Given the description of an element on the screen output the (x, y) to click on. 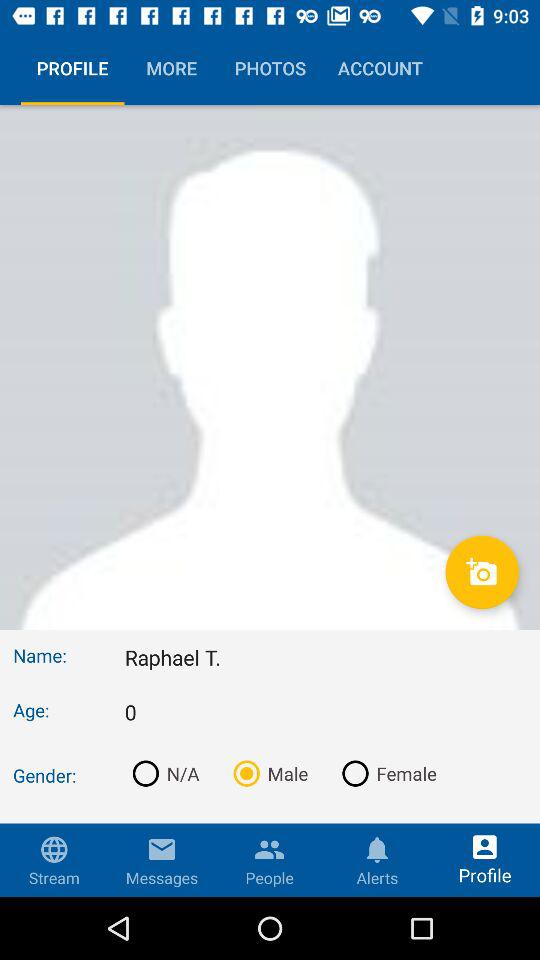
press item above the n/a icon (325, 711)
